Given the description of an element on the screen output the (x, y) to click on. 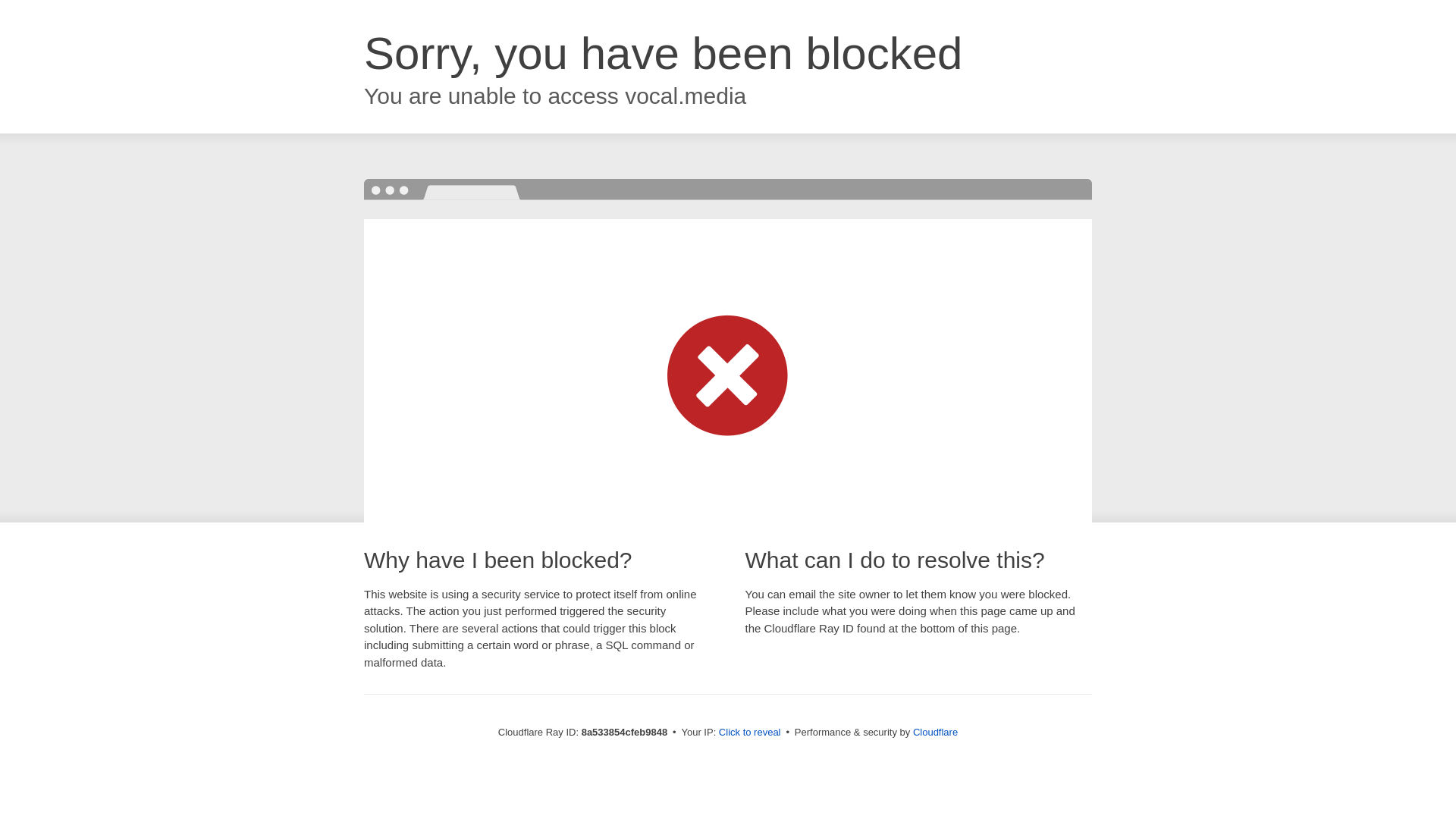
Click to reveal (749, 732)
Cloudflare (935, 731)
